Given the description of an element on the screen output the (x, y) to click on. 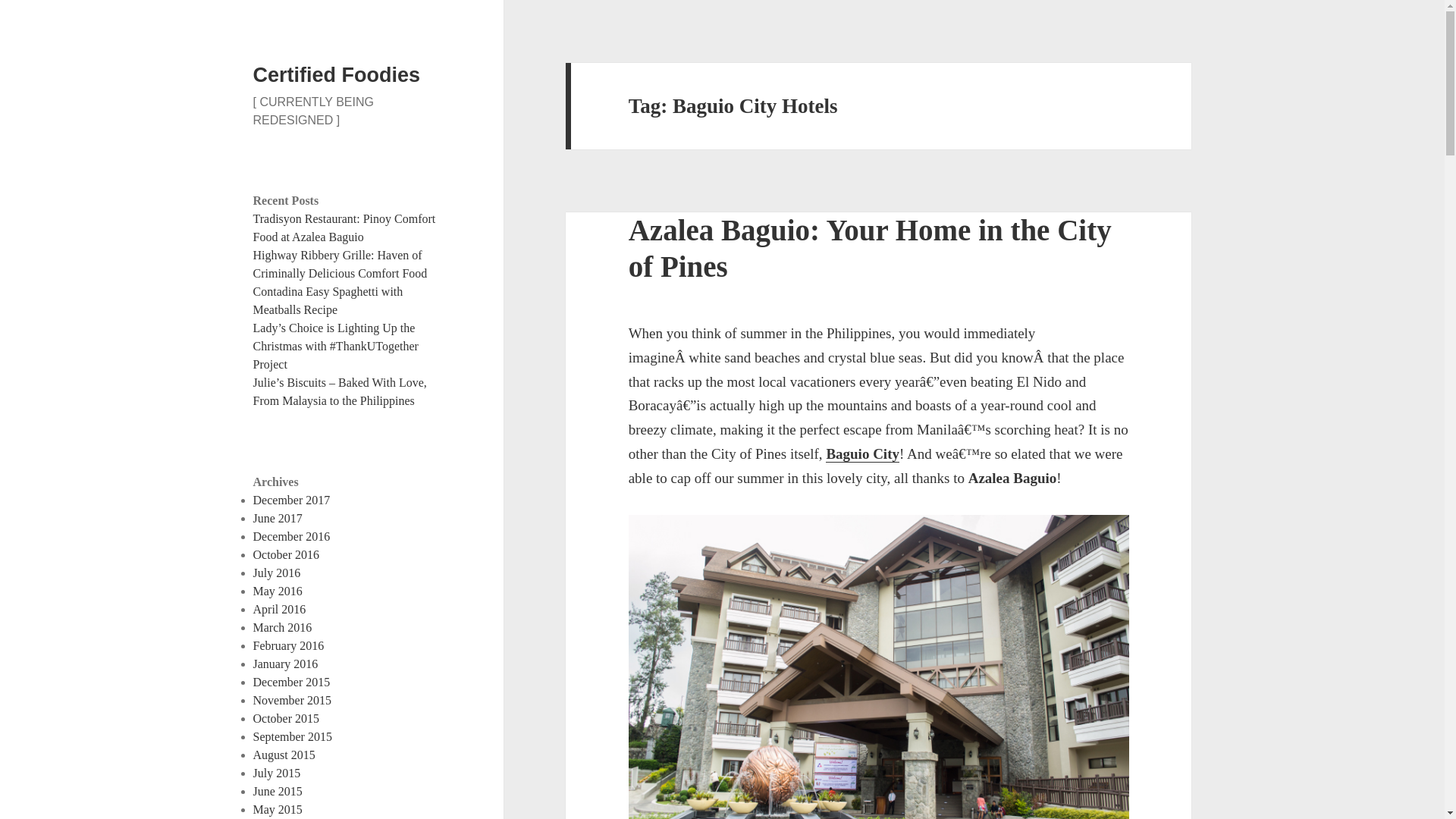
December 2017 (291, 499)
May 2016 (277, 590)
June 2015 (277, 790)
November 2015 (292, 699)
Certified Foodies (336, 74)
December 2016 (291, 535)
January 2016 (285, 663)
October 2015 (286, 717)
October 2016 (286, 554)
December 2015 (291, 681)
March 2016 (283, 626)
July 2016 (277, 572)
July 2015 (277, 772)
May 2015 (277, 809)
